Given the description of an element on the screen output the (x, y) to click on. 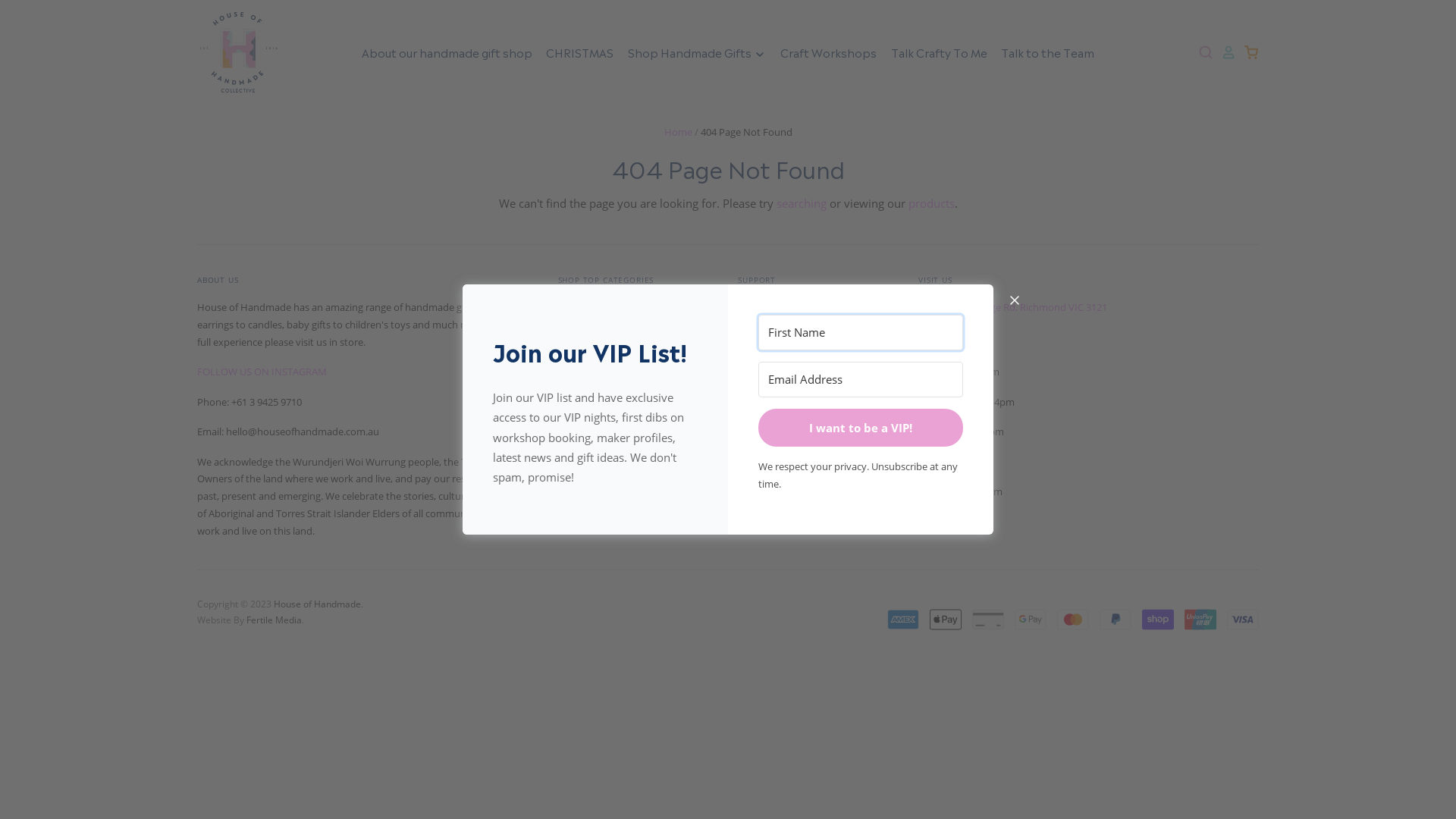
Handmade Candles Element type: text (602, 357)
Handmade Earrings Element type: text (602, 331)
Returns Element type: text (755, 306)
Contact Us Element type: text (762, 357)
About our handmade gift shop Element type: text (446, 51)
73 Bridge Rd, Richmond VIC 3121 Element type: text (1033, 306)
Handmade Baby Gifts Element type: text (607, 306)
products Element type: text (931, 202)
CHRISTMAS Element type: text (574, 51)
FOLLOW US ON INSTAGRAM Element type: text (261, 371)
Home Element type: text (678, 131)
Shop Handmade Gifts Element type: text (690, 51)
Talk Crafty To Me Element type: text (932, 51)
I want to be a VIP! Element type: text (860, 427)
Terms of Service Element type: text (594, 382)
searching Element type: text (801, 202)
House of Handmade Element type: text (316, 603)
Refund policy Element type: text (588, 406)
Privacy Element type: text (753, 331)
Talk to the Team Element type: text (1041, 51)
Fertile Media Element type: text (273, 619)
Craft Workshops Element type: text (821, 51)
